Given the description of an element on the screen output the (x, y) to click on. 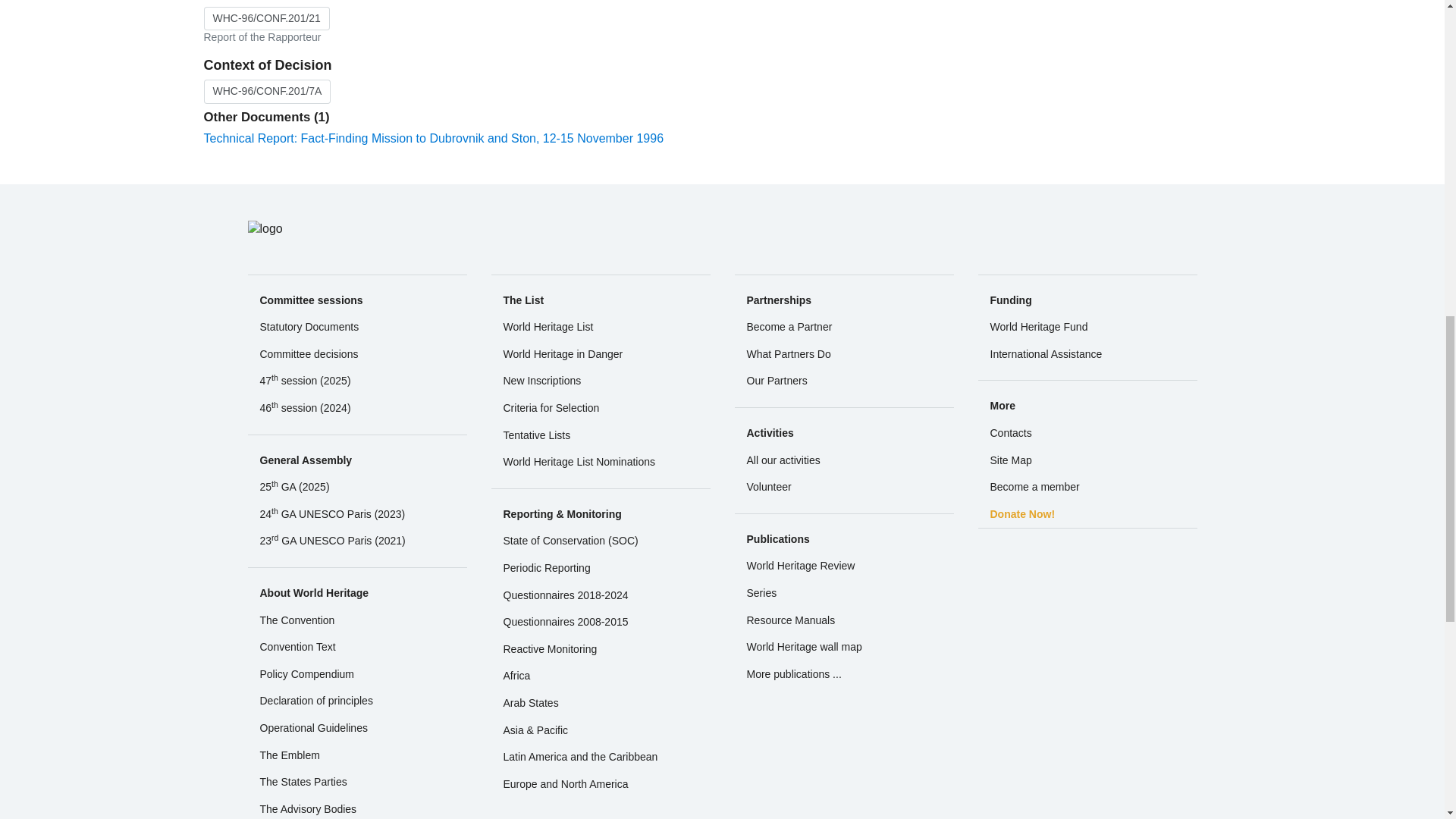
Report of the Rapporteur (266, 18)
